Given the description of an element on the screen output the (x, y) to click on. 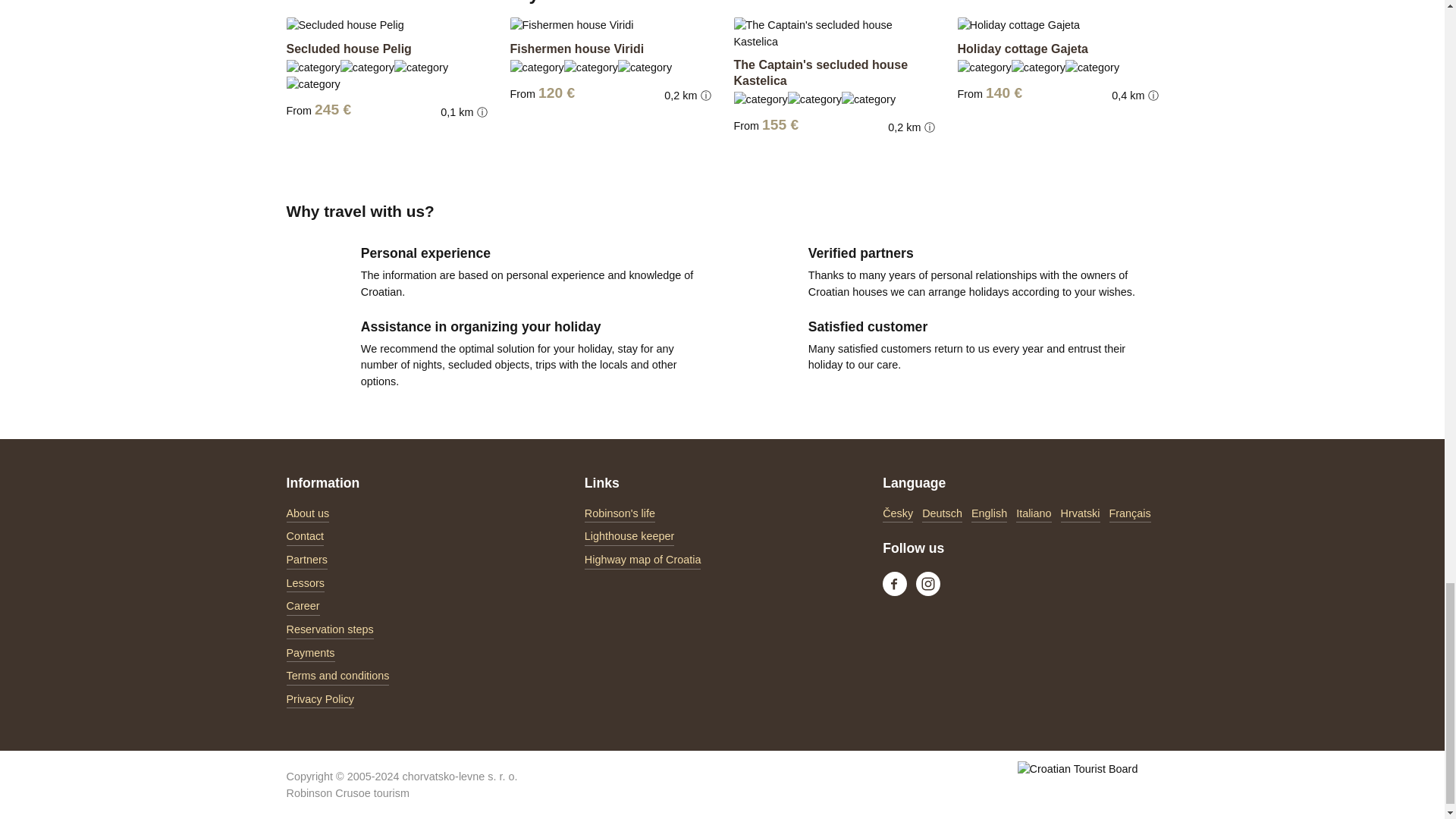
About us (308, 514)
Secluded house Pelig (349, 48)
Fishermen house Viridi (576, 48)
Holiday cottage Gajeta (1021, 48)
The Captain's secluded house Kastelica (820, 72)
